Given the description of an element on the screen output the (x, y) to click on. 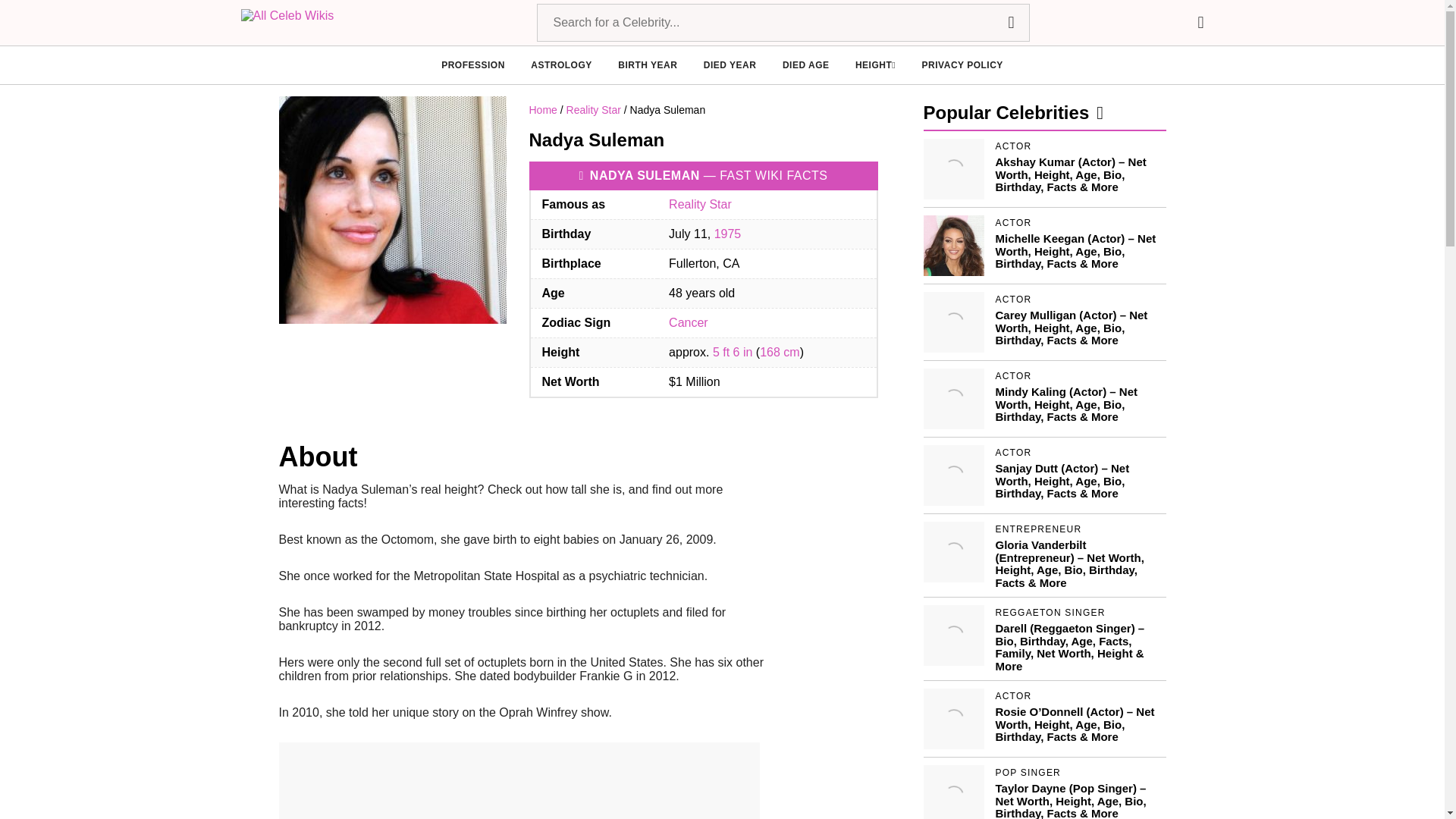
DIED YEAR (730, 64)
Home (543, 110)
5 ft 6 in (732, 351)
BIRTH YEAR (647, 64)
DIED AGE (806, 64)
PRIVACY POLICY (962, 64)
168 cm (779, 351)
Cancer (687, 322)
PROFESSION (473, 64)
Search (1010, 22)
Reality Star (700, 204)
HEIGHT (875, 64)
Reality Star (593, 110)
ASTROLOGY (561, 64)
1975 (727, 233)
